Given the description of an element on the screen output the (x, y) to click on. 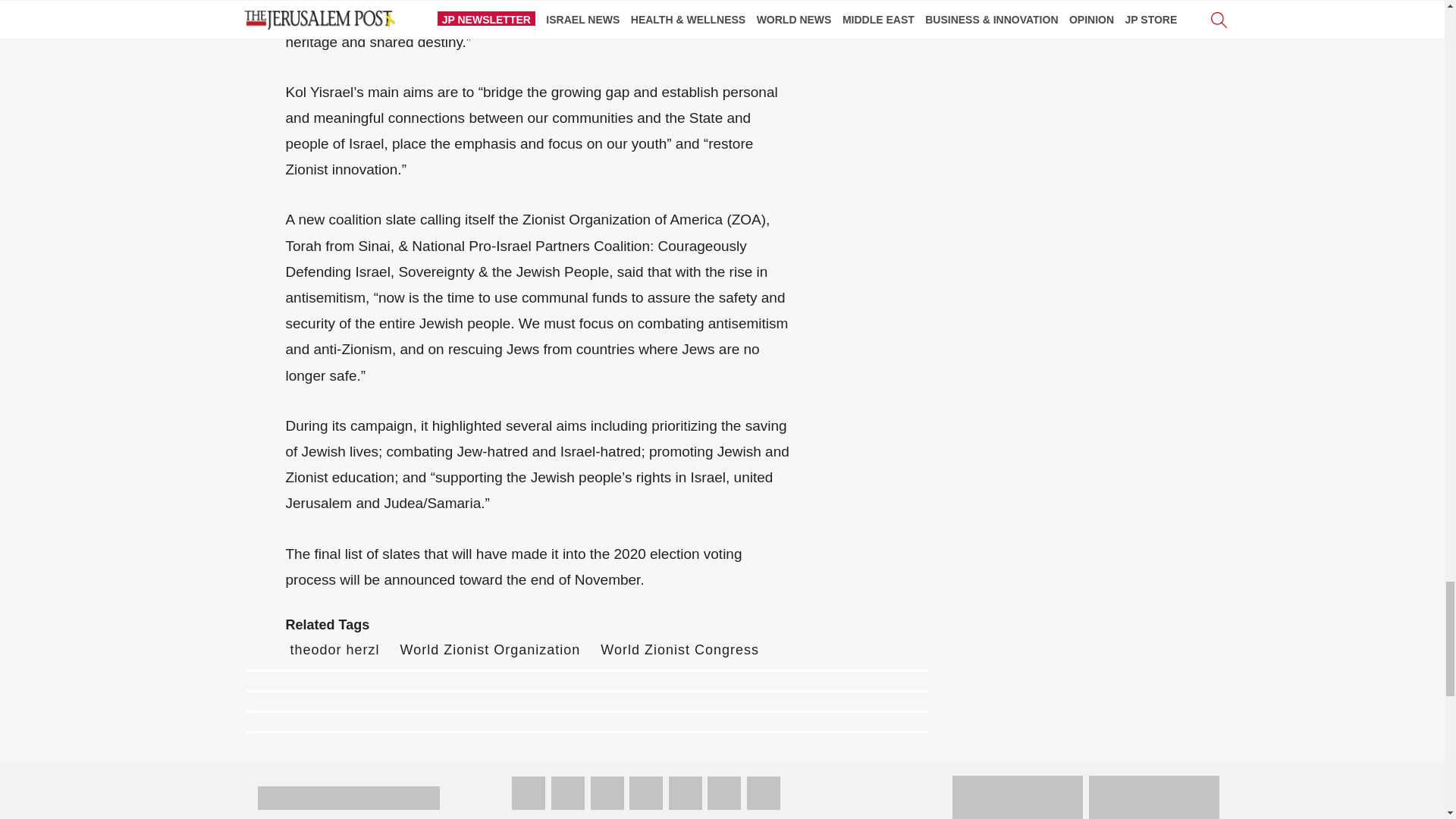
World Zionist Organization (490, 649)
World Zionist Organization (490, 649)
World Zionist Congress (678, 649)
World Zionist Congress (678, 649)
theodor herzl (333, 649)
theodor herzl (333, 649)
